Given the description of an element on the screen output the (x, y) to click on. 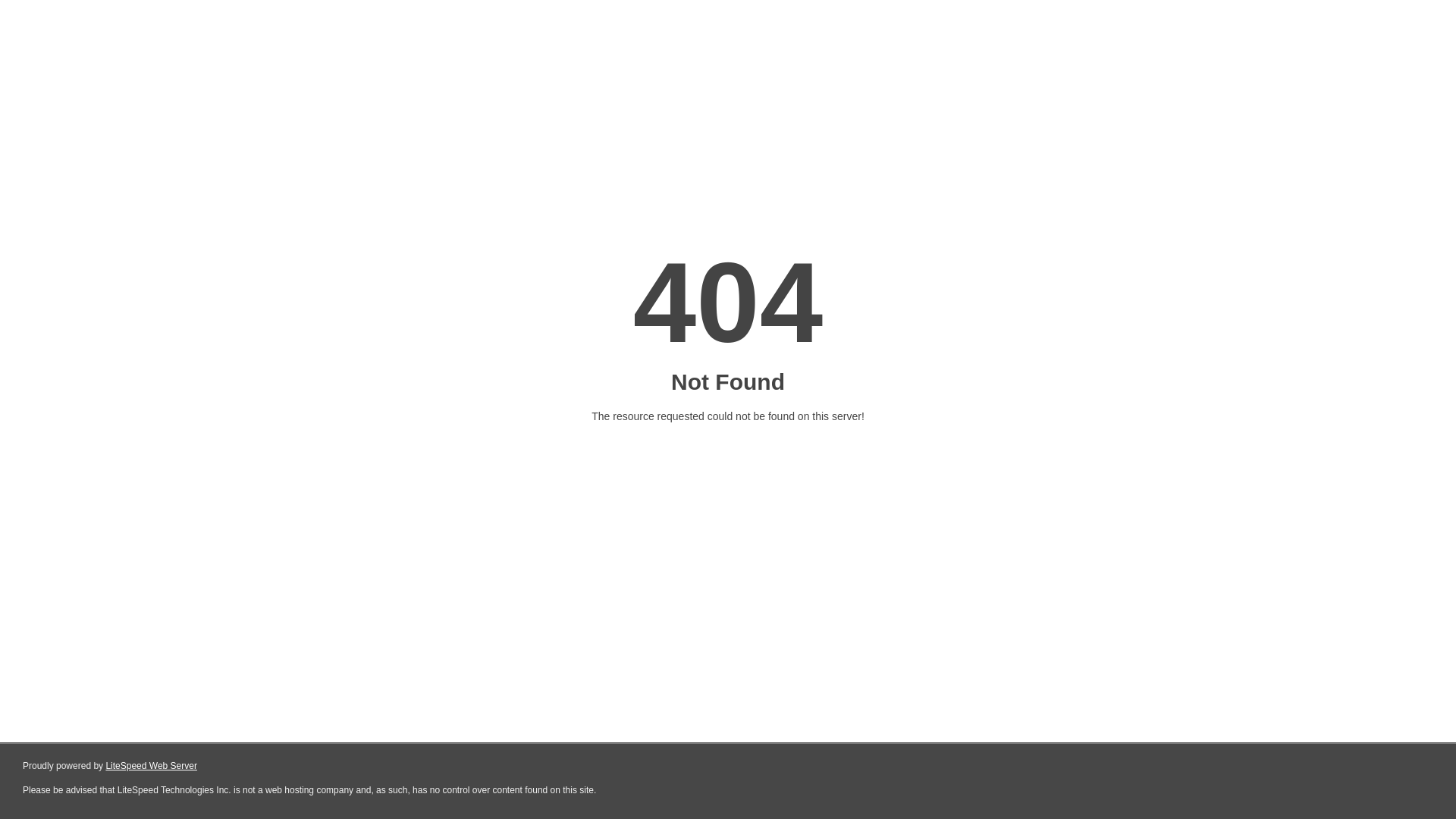
LiteSpeed Web Server Element type: text (151, 765)
